Given the description of an element on the screen output the (x, y) to click on. 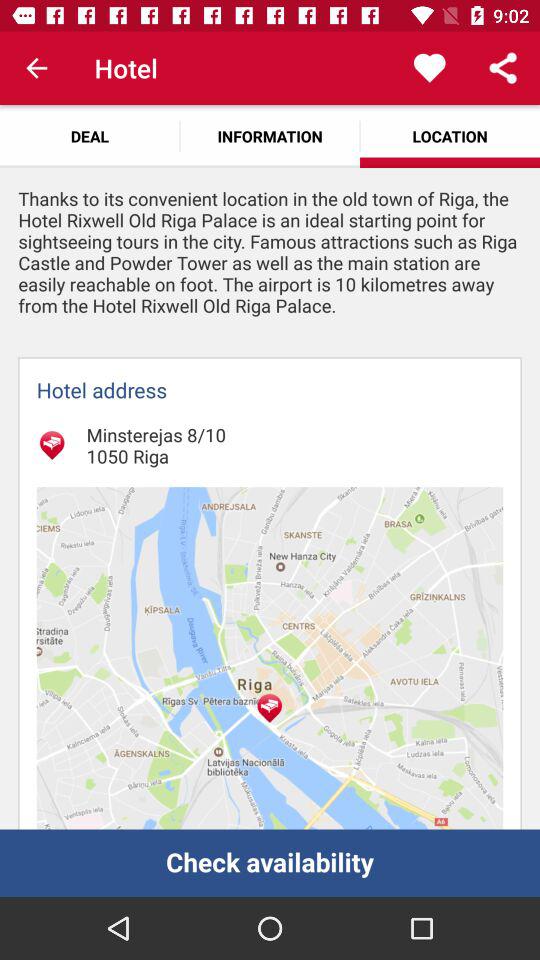
open the deal app (90, 136)
